Given the description of an element on the screen output the (x, y) to click on. 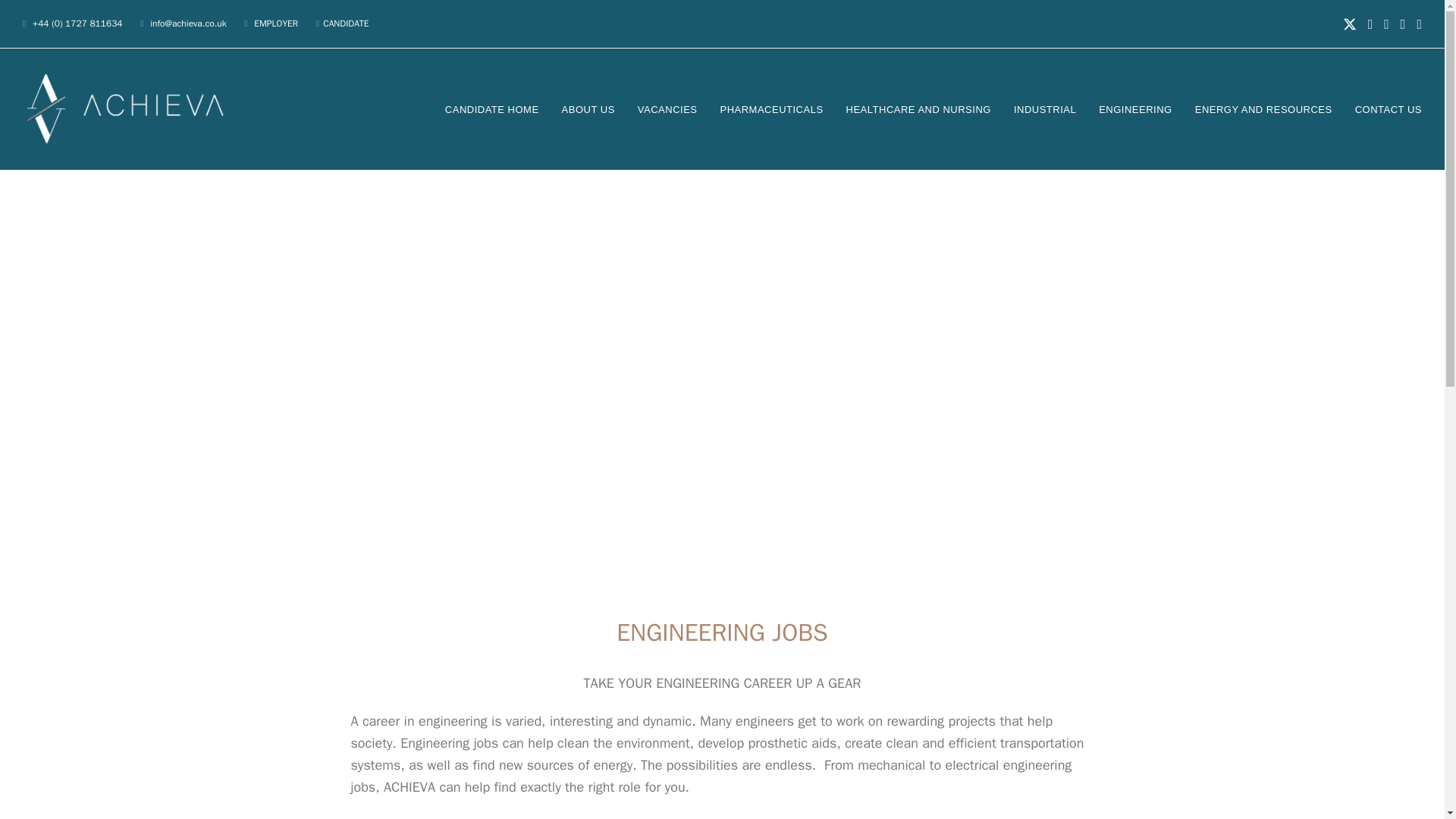
PHARMACEUTICALS (770, 108)
EMPLOYER (277, 23)
CANDIDATE HOME (491, 108)
HEALTHCARE AND NURSING (918, 108)
ENERGY AND RESOURCES (1263, 108)
CANDIDATE (345, 23)
